Given the description of an element on the screen output the (x, y) to click on. 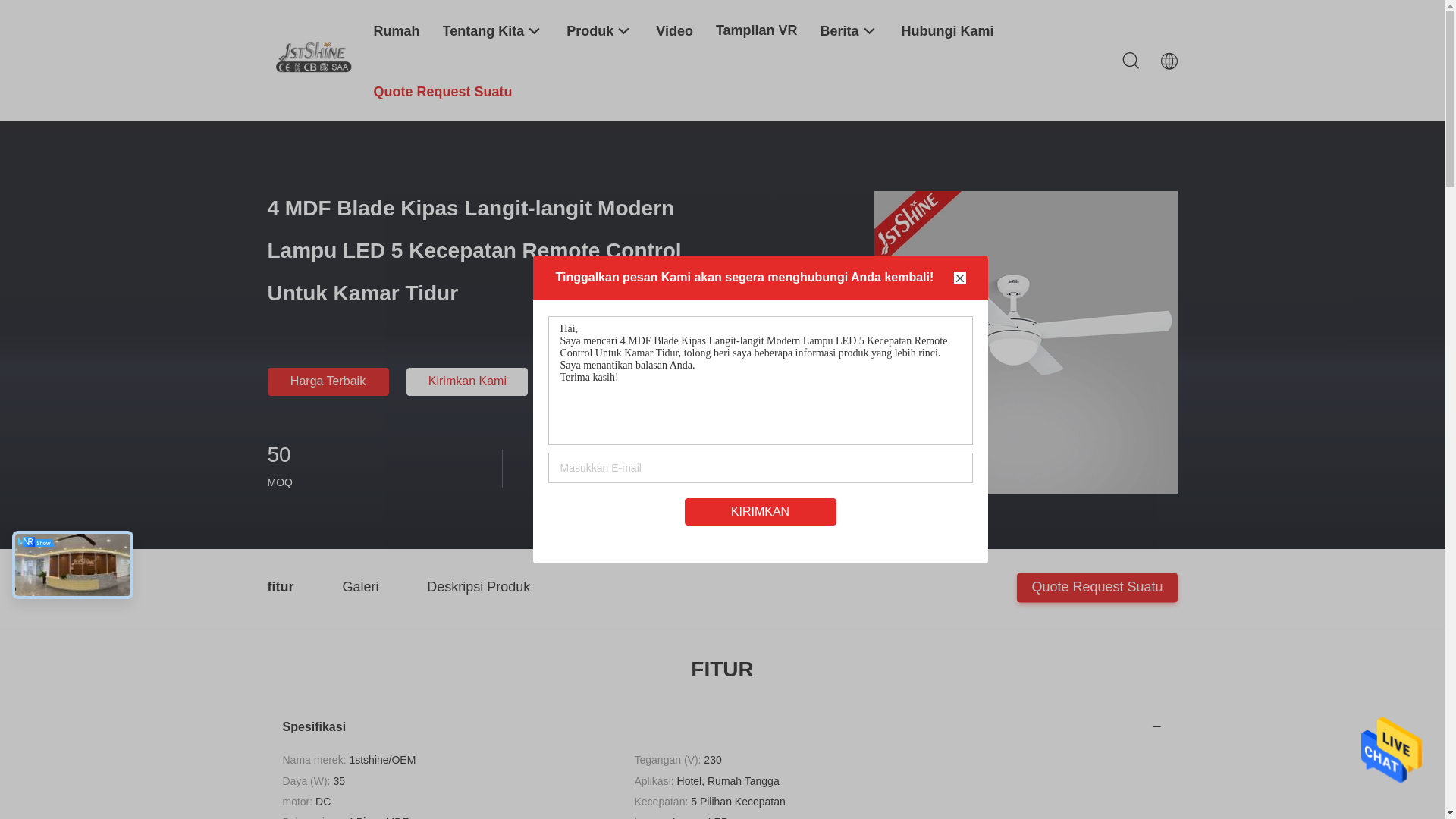
Quote Request Suatu Element type: text (442, 90)
Produk Element type: text (331, 82)
Tentang Kita Element type: text (493, 30)
Hubungi Kami Element type: text (947, 30)
Rumah Element type: text (396, 30)
Kipas Langit-Langit LED Modern Element type: text (435, 82)
Rumah Element type: text (283, 82)
Berita Element type: text (849, 30)
Quote Request Suatu Element type: text (1096, 587)
Tampilan VR Element type: text (756, 30)
Video Element type: text (674, 30)
Produk Element type: text (599, 30)
Harga Terbaik Element type: text (327, 381)
Kirimkan Kami Element type: text (466, 381)
